Given the description of an element on the screen output the (x, y) to click on. 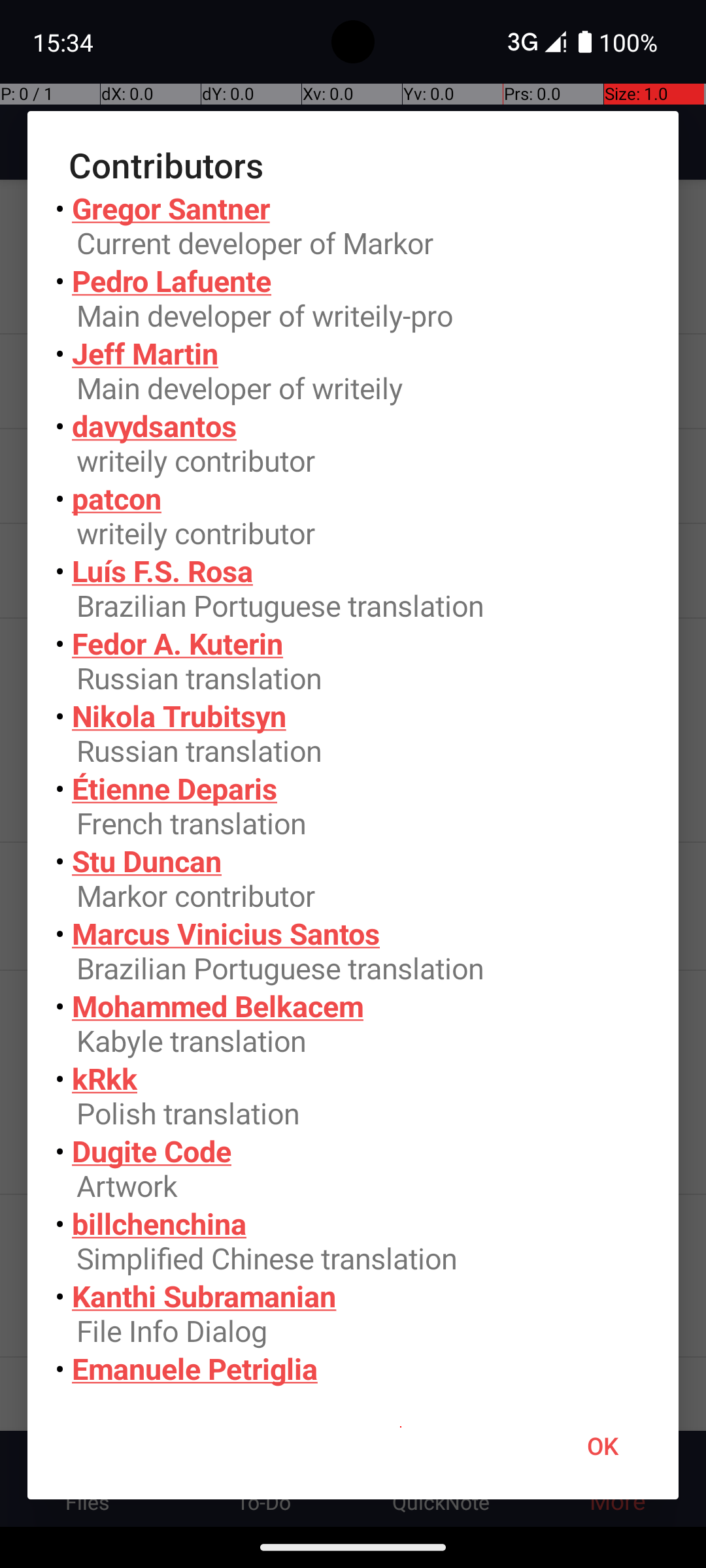
• Gregor Santner
   Current developer of Markor
• Pedro Lafuente
   Main developer of writeily-pro
• Jeff Martin
   Main developer of writeily
• davydsantos
   writeily contributor
• patcon
   writeily contributor
• Luís F.S. Rosa
   Brazilian Portuguese translation
• Fedor A. Kuterin
   Russian translation
• Nikola Trubitsyn
   Russian translation
• Étienne Deparis
   French translation
• Stu Duncan
   Markor contributor
• Marcus Vinicius Santos
   Brazilian Portuguese translation
• Mohammed Belkacem
   Kabyle translation
• kRkk
   Polish translation
• Dugite Code
   Artwork
• billchenchina
   Simplified Chinese translation
• Kanthi Subramanian
   File Info Dialog
• Emanuele Petriglia
   Italian translation
• Tiago Danin
   Brazilian Portuguese translation
• Jesica Chu
   Spanish and Traiditonal Chinese translation
• Ankush S Shetkar
   Added Chrome custom tabs for urls
• Lars Pontoppidan
   Danish translation
• Amaya Lim
   Improve project description
• Jawkwon Im
   Add keep screen on
• Mark Goldman
   Added sorting for todo.txt, improved wiki
• natanelho
   Hebrew translation
• Alexander Sachse
   Added simple word counter
• Kyle Phelps
   Added functionality to share multiple files from file browser
• Vladislav Glinsky
   Ukrainian/Russian translations
• David Hebbeker
   Added tooltips for text actions.
• Harshad Srinivasan
   Added functionality to handle leading spaces in lists.
• Niels
   Added encryption for textfile contents.
• Helguli
   Added fast scroll to editor.
• Patricia Heimfarth
   Added checkbox for todo completion date
• Peter Schwede
   Added Zim-Wiki support.
• Frederic Jacob
   Added Zim-Wiki highlighting, text actions, view mode, page creation.
• Winston Feng
   Support spaces in URL.
• k3b
   Added CSV-Support.
 Element type: android.widget.TextView (352, 790)
